Given the description of an element on the screen output the (x, y) to click on. 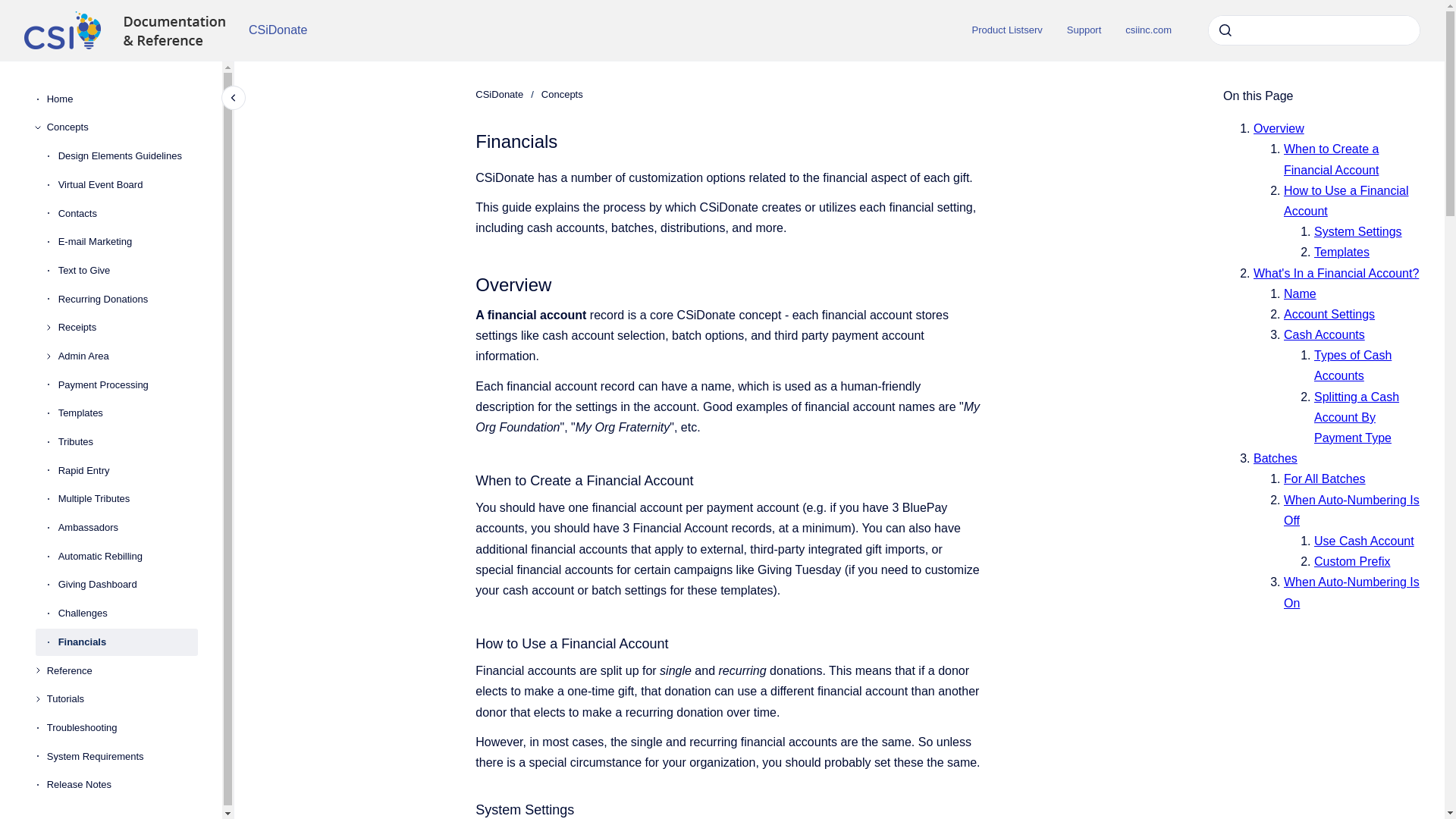
Multiple Tributes (128, 499)
Rapid Entry (128, 470)
Automatic Rebilling (128, 556)
Templates (128, 413)
Receipts (128, 327)
Concepts (122, 127)
Product Listserv (1006, 29)
Ambassadors (128, 527)
E-mail Marketing (128, 241)
Payment Processing (128, 384)
